Given the description of an element on the screen output the (x, y) to click on. 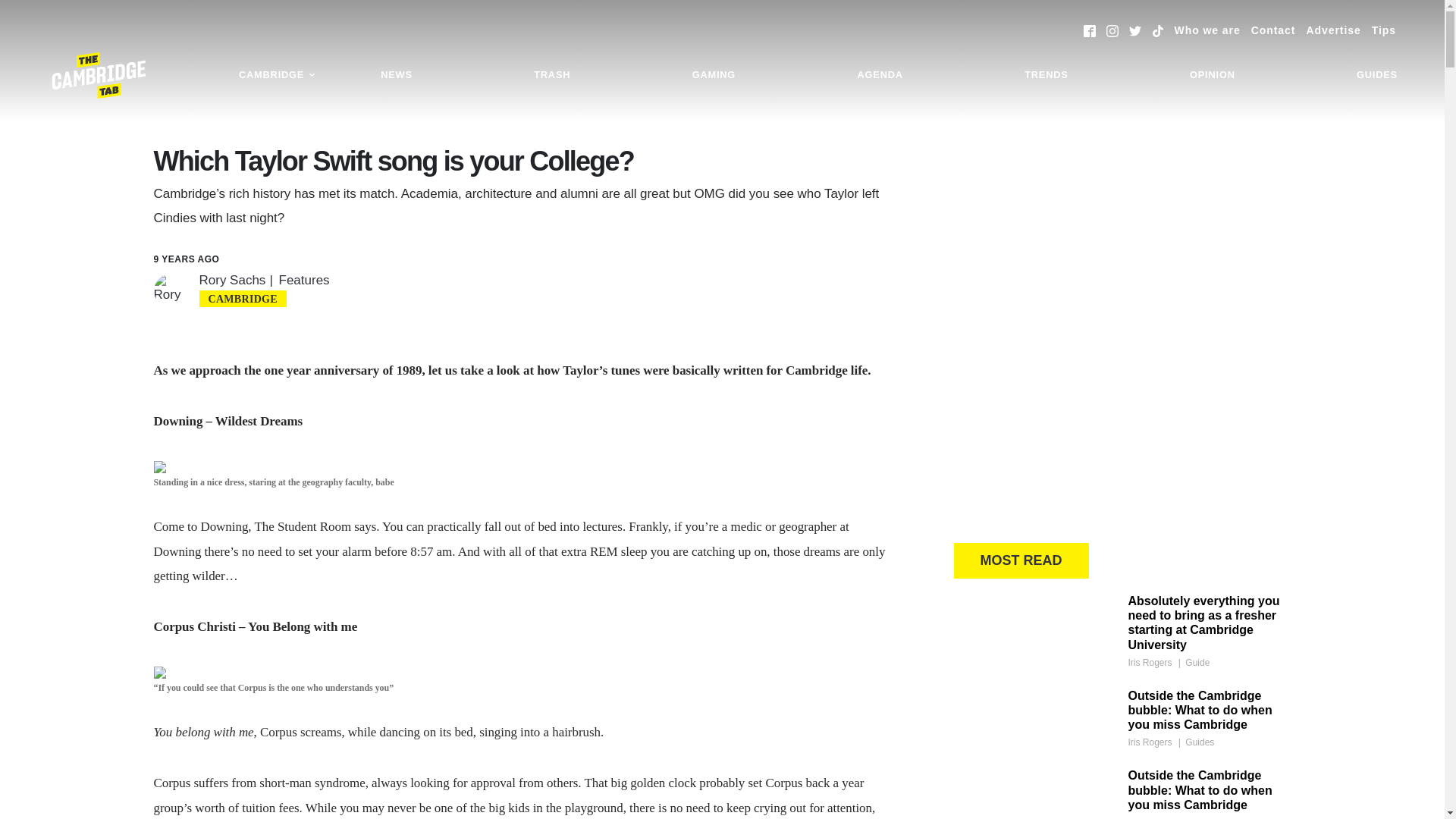
GAMING (713, 75)
CAMBRIDGE (277, 75)
Tips (1383, 29)
OPINION (1211, 75)
Advertise (1332, 29)
Who we are (1207, 29)
NEWS (396, 75)
Contact (1272, 29)
TRASH (551, 75)
AGENDA (879, 75)
